Given the description of an element on the screen output the (x, y) to click on. 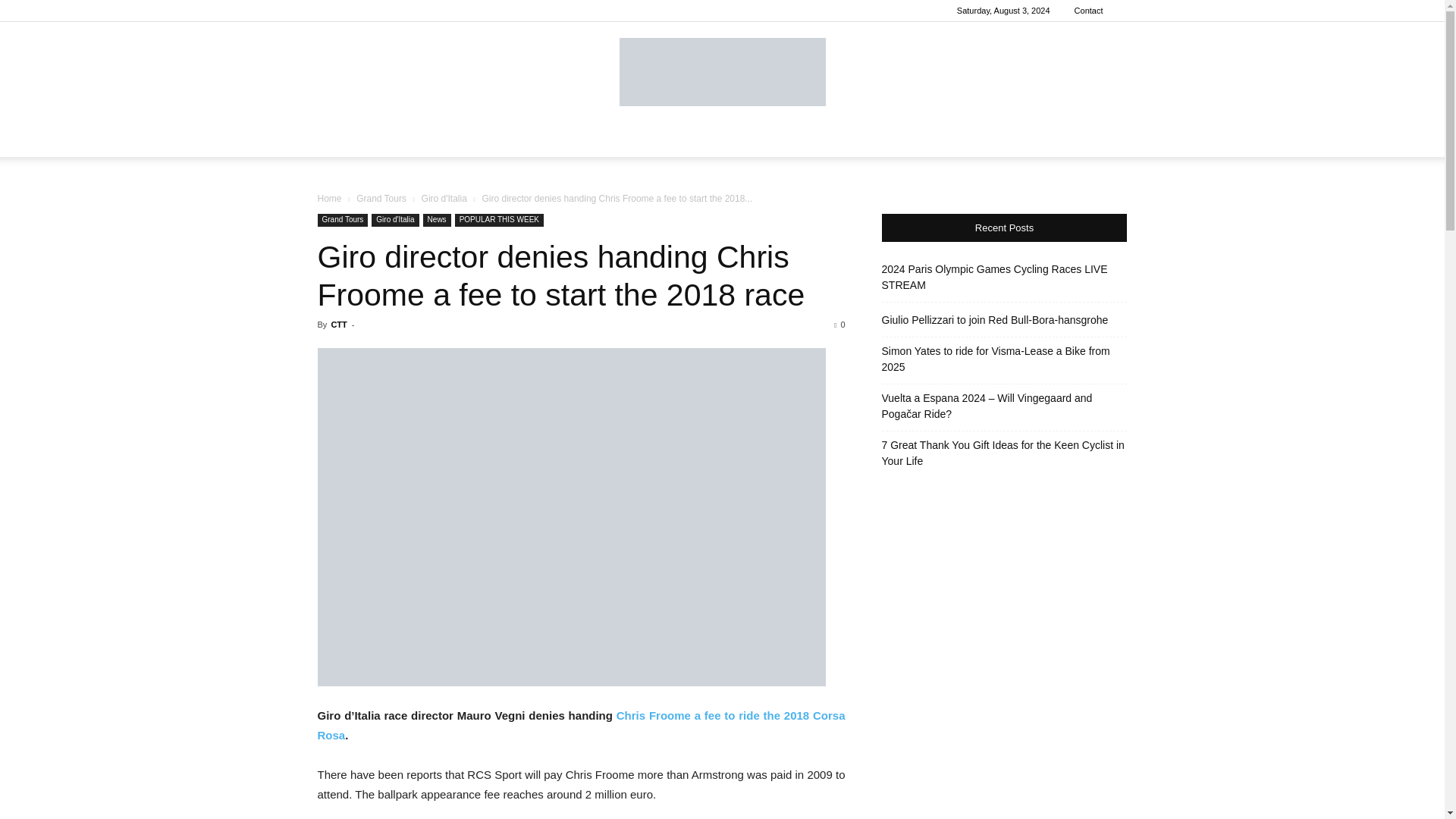
Search (1085, 199)
Giro d'Italia (395, 219)
HISTORY (919, 138)
NEWS (458, 138)
News (437, 219)
0 (839, 324)
View all posts in Grand Tours (381, 198)
Home (328, 198)
POPULAR THIS WEEK (498, 219)
TECH (580, 138)
LIVE STREAMING (1009, 138)
TRAINING AND HEALTH (677, 138)
Contact (1088, 10)
View all posts in Giro d'Italia (444, 198)
